Given the description of an element on the screen output the (x, y) to click on. 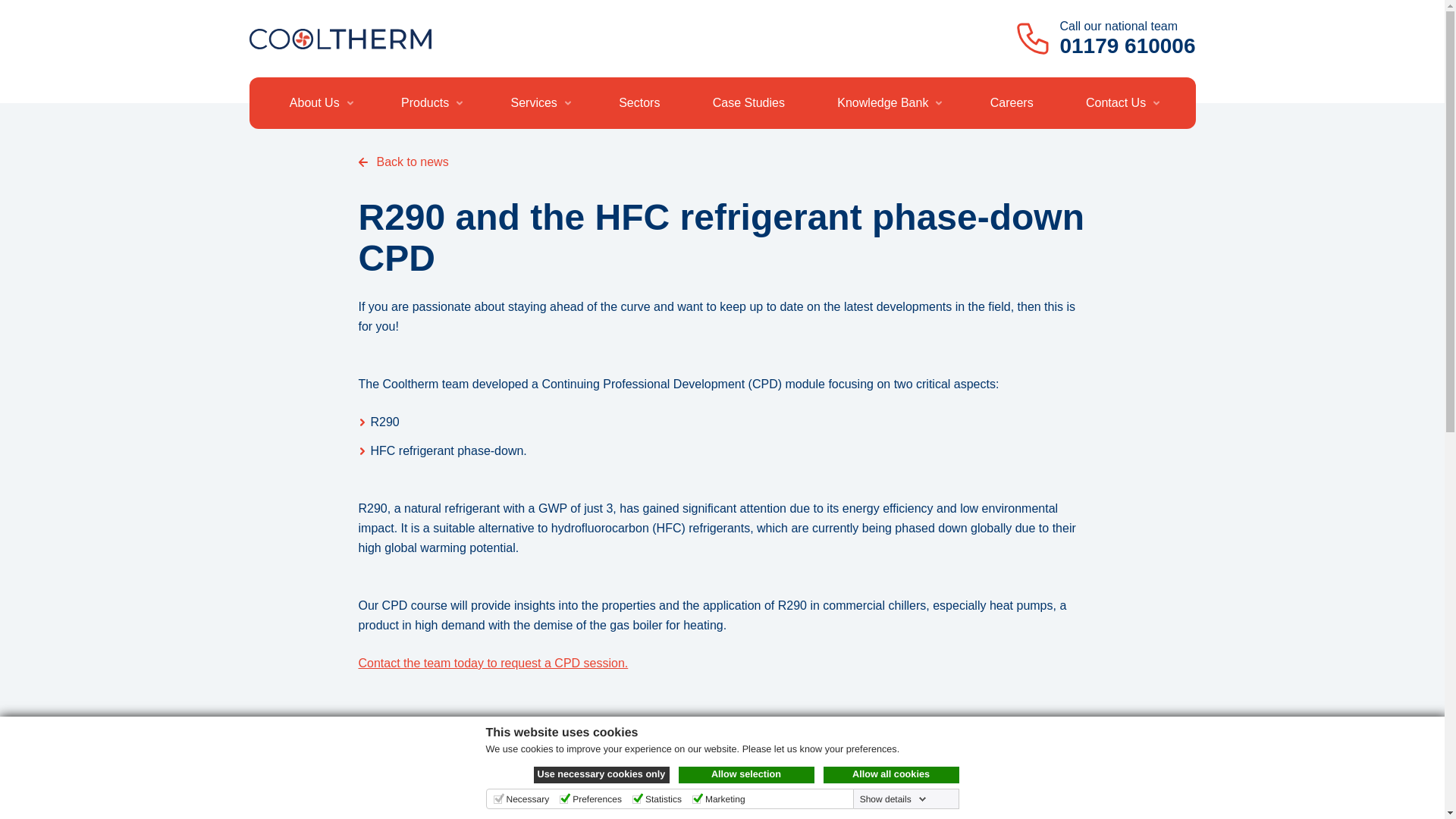
Allow selection (745, 774)
Show details (893, 799)
Use necessary cookies only (601, 774)
Allow all cookies (891, 774)
